Given the description of an element on the screen output the (x, y) to click on. 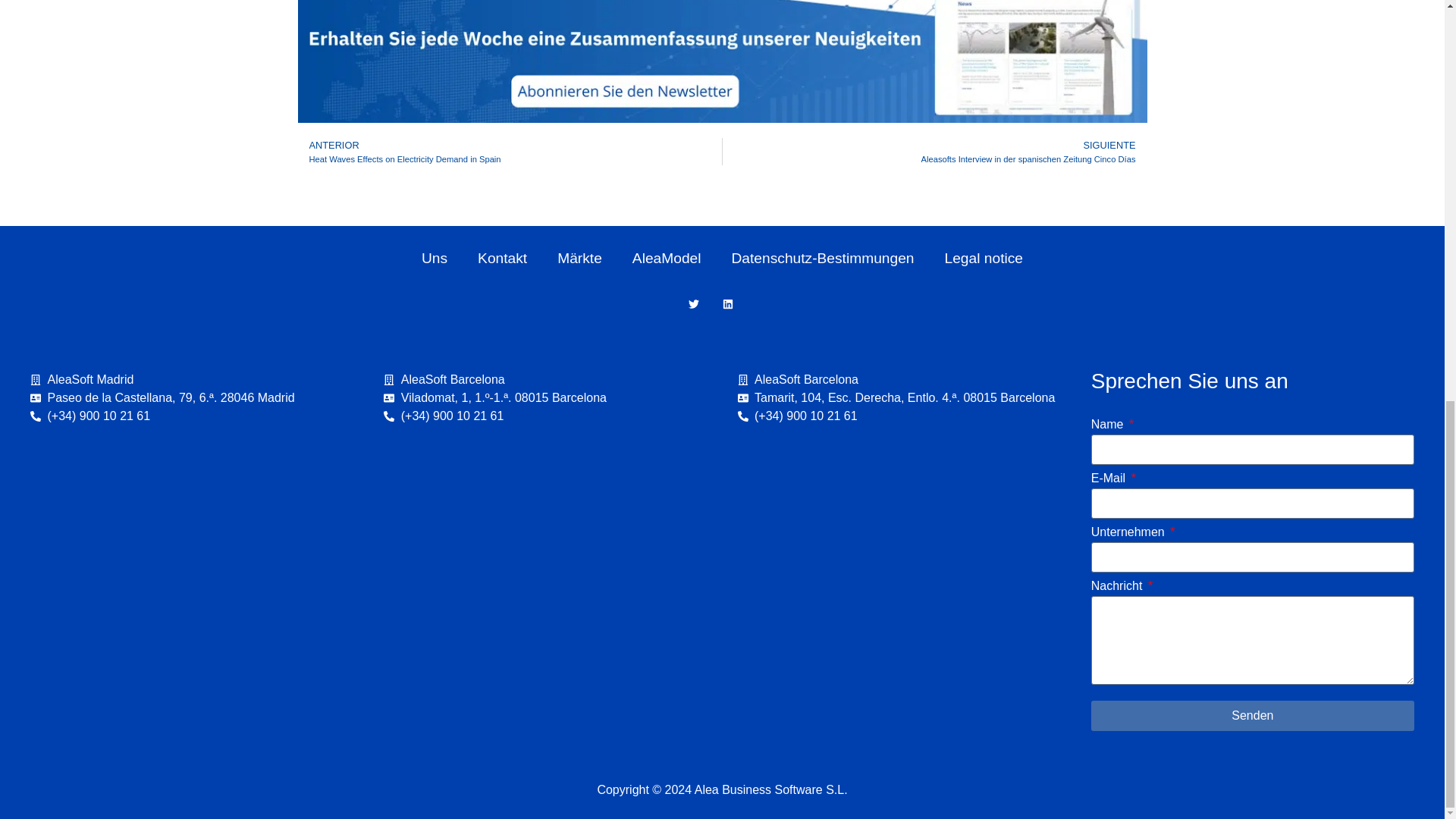
Tamarit 104, 08015 (897, 554)
paseo de la castellana, 79 (191, 554)
viladomat, 1 (545, 554)
